Given the description of an element on the screen output the (x, y) to click on. 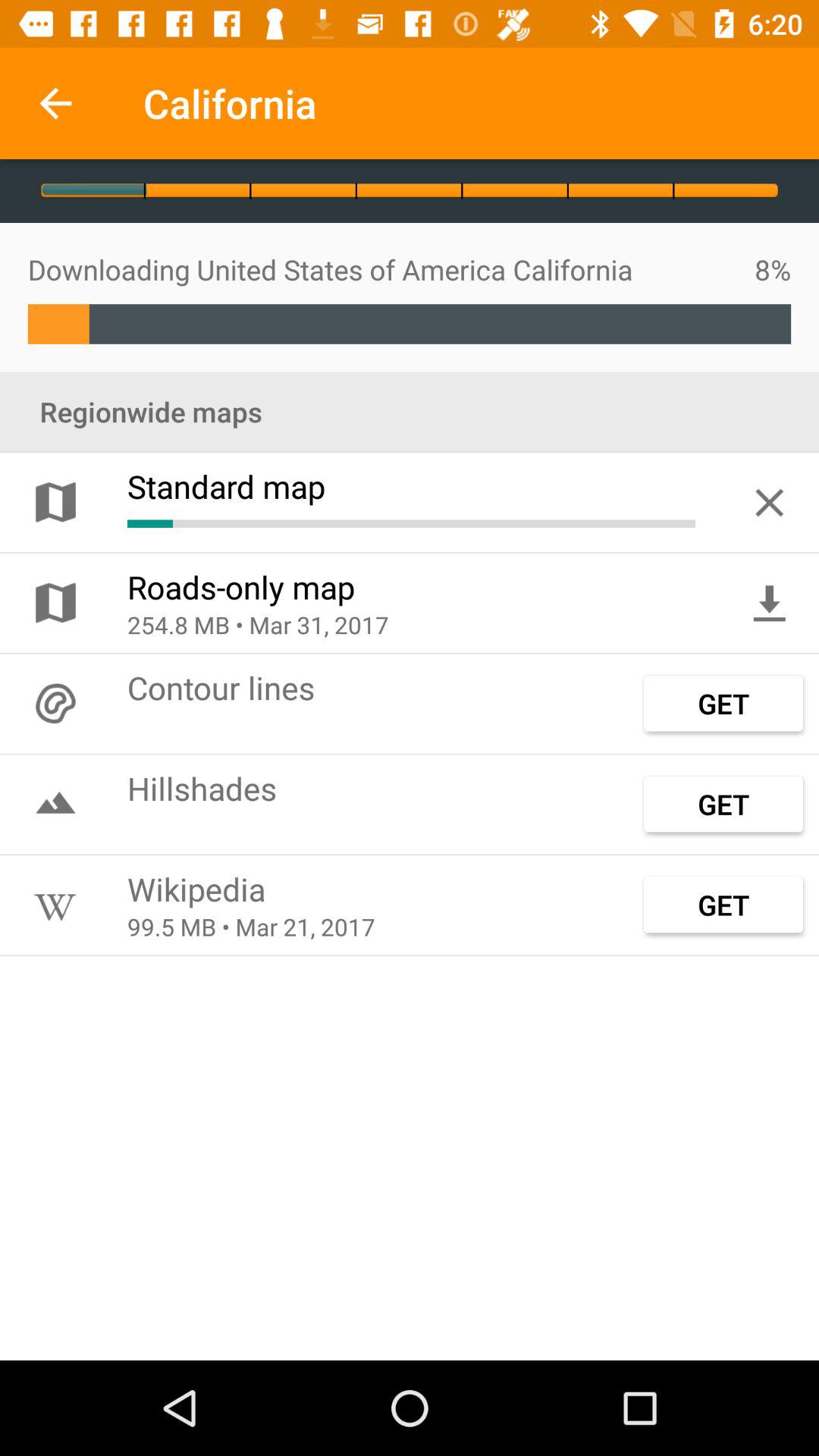
click on get which is below the downloads symbol (723, 702)
select the icon which is before contour lines on page (55, 702)
select the download icon (769, 602)
